Given the description of an element on the screen output the (x, y) to click on. 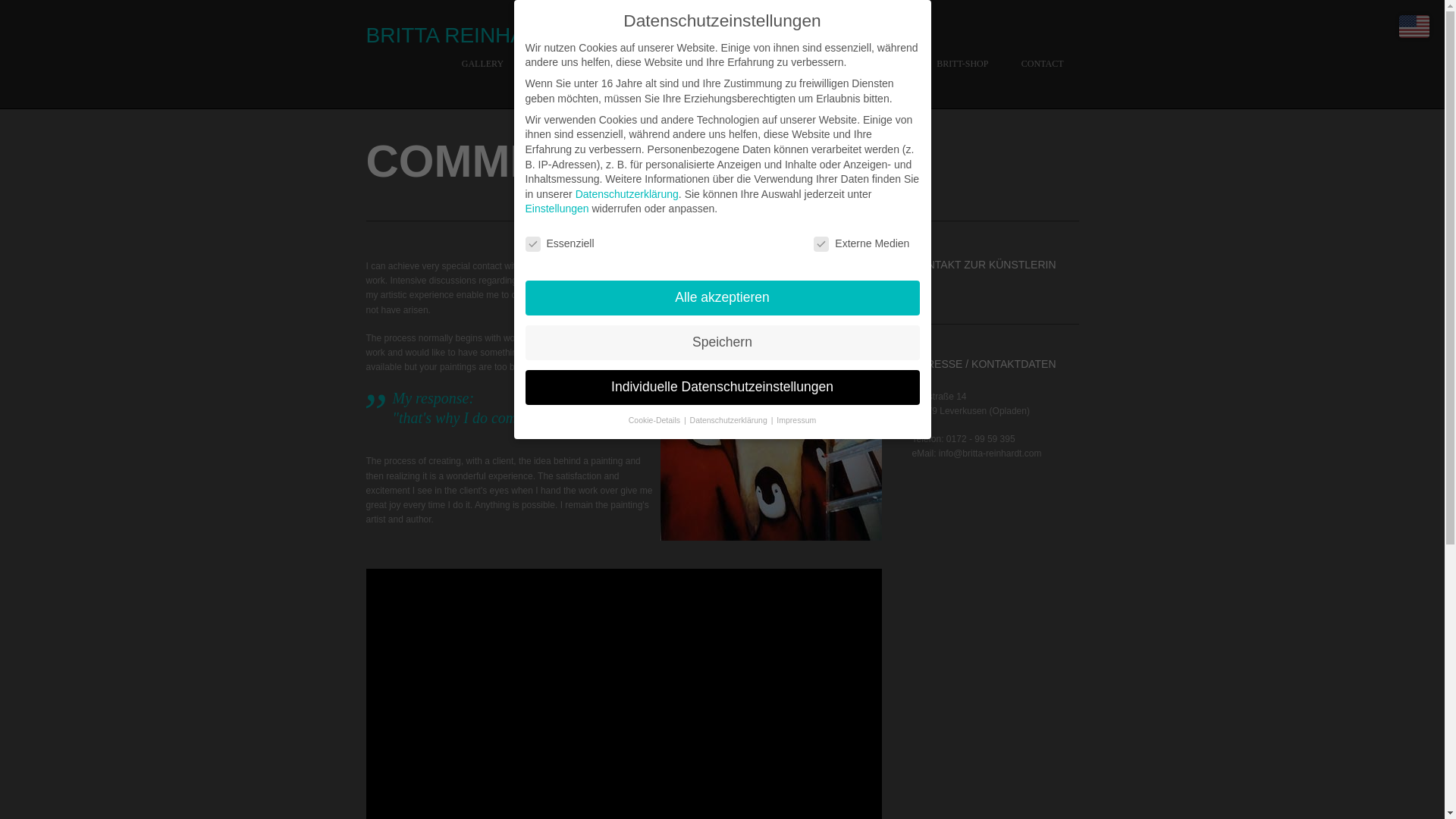
Cookie-Details (655, 420)
BRITT-SHOP (962, 82)
CONTACT (1042, 82)
Alle akzeptieren (721, 296)
COMMISSIONED WORK (853, 82)
BRITT ABOUT BRITT (580, 82)
Individuelle Datenschutzeinstellungen (721, 387)
Impressum (795, 420)
Britta Reinhardt ART (495, 35)
BLOG (758, 82)
